Given the description of an element on the screen output the (x, y) to click on. 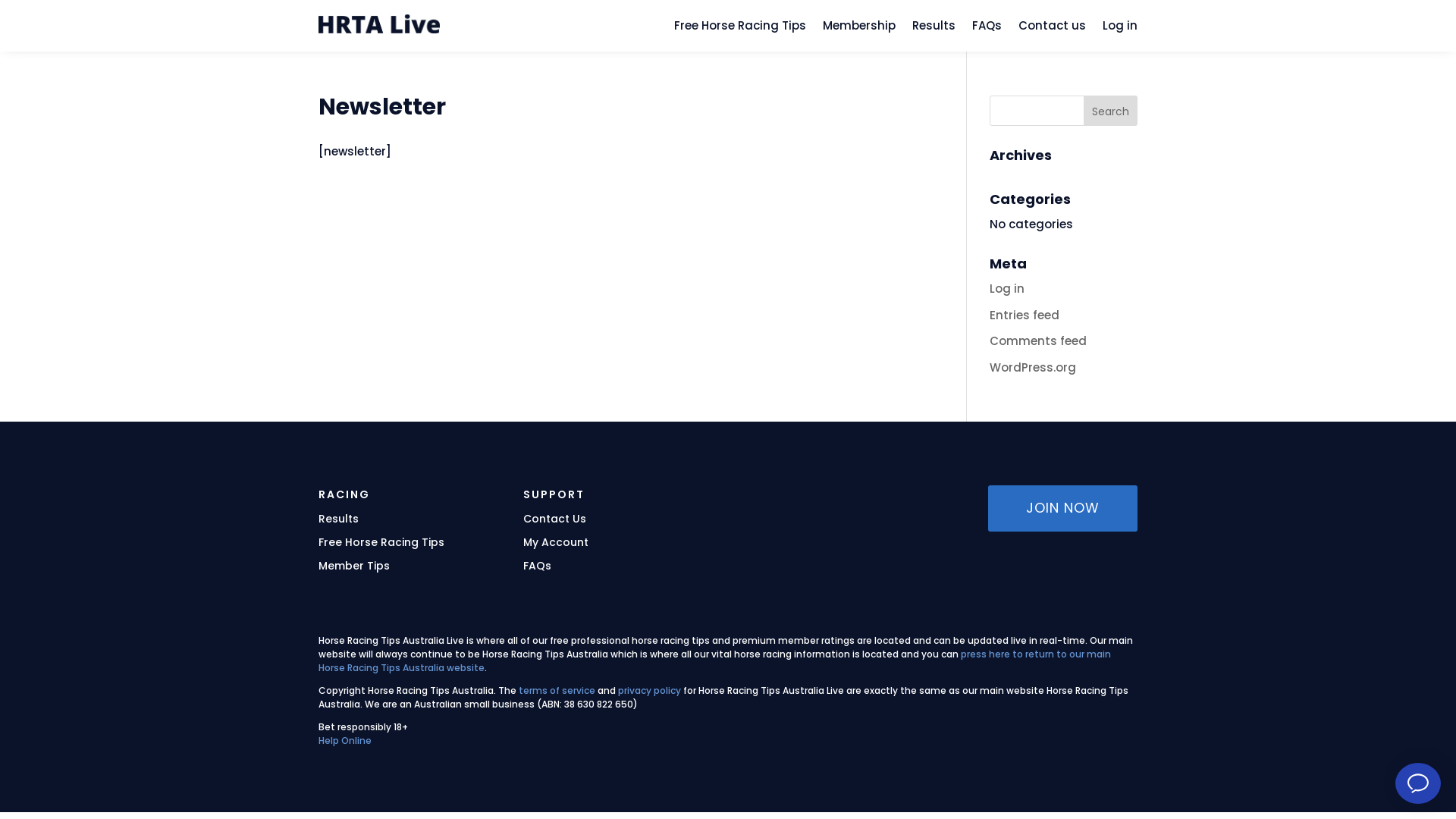
Comments feed Element type: text (1037, 340)
JOIN NOW Element type: text (1062, 508)
Log in Element type: text (1006, 288)
Help Online Element type: text (344, 740)
Log in Element type: text (1119, 28)
WordPress.org Element type: text (1032, 367)
Contact us Element type: text (1051, 28)
Membership Element type: text (858, 28)
Search Element type: text (1110, 110)
terms of service Element type: text (556, 690)
Free Horse Racing Tips Element type: text (740, 28)
privacy policy Element type: text (649, 690)
Entries feed Element type: text (1024, 315)
FAQs Element type: text (986, 28)
Results Element type: text (933, 28)
